Given the description of an element on the screen output the (x, y) to click on. 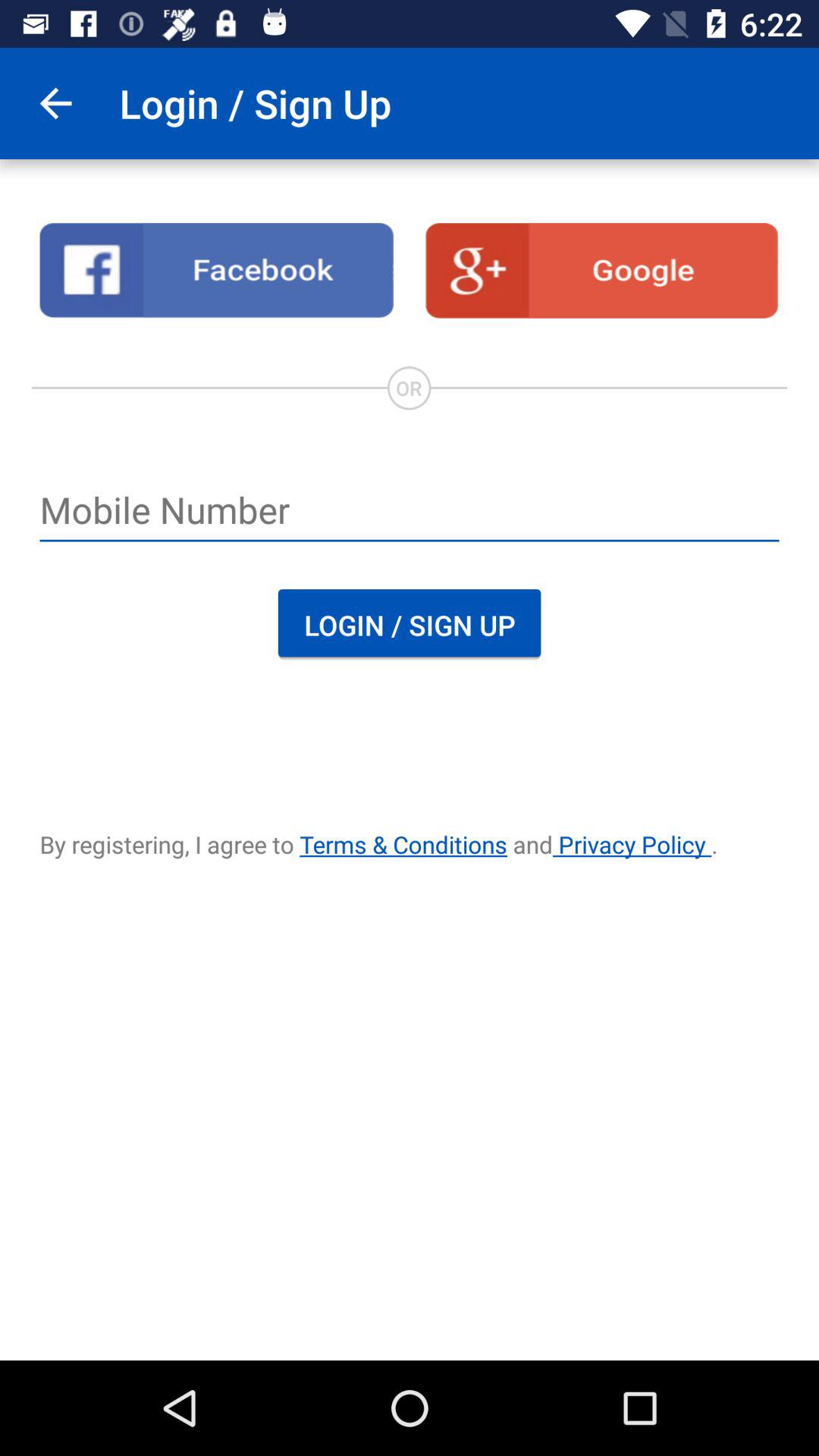
facebook link (216, 270)
